Given the description of an element on the screen output the (x, y) to click on. 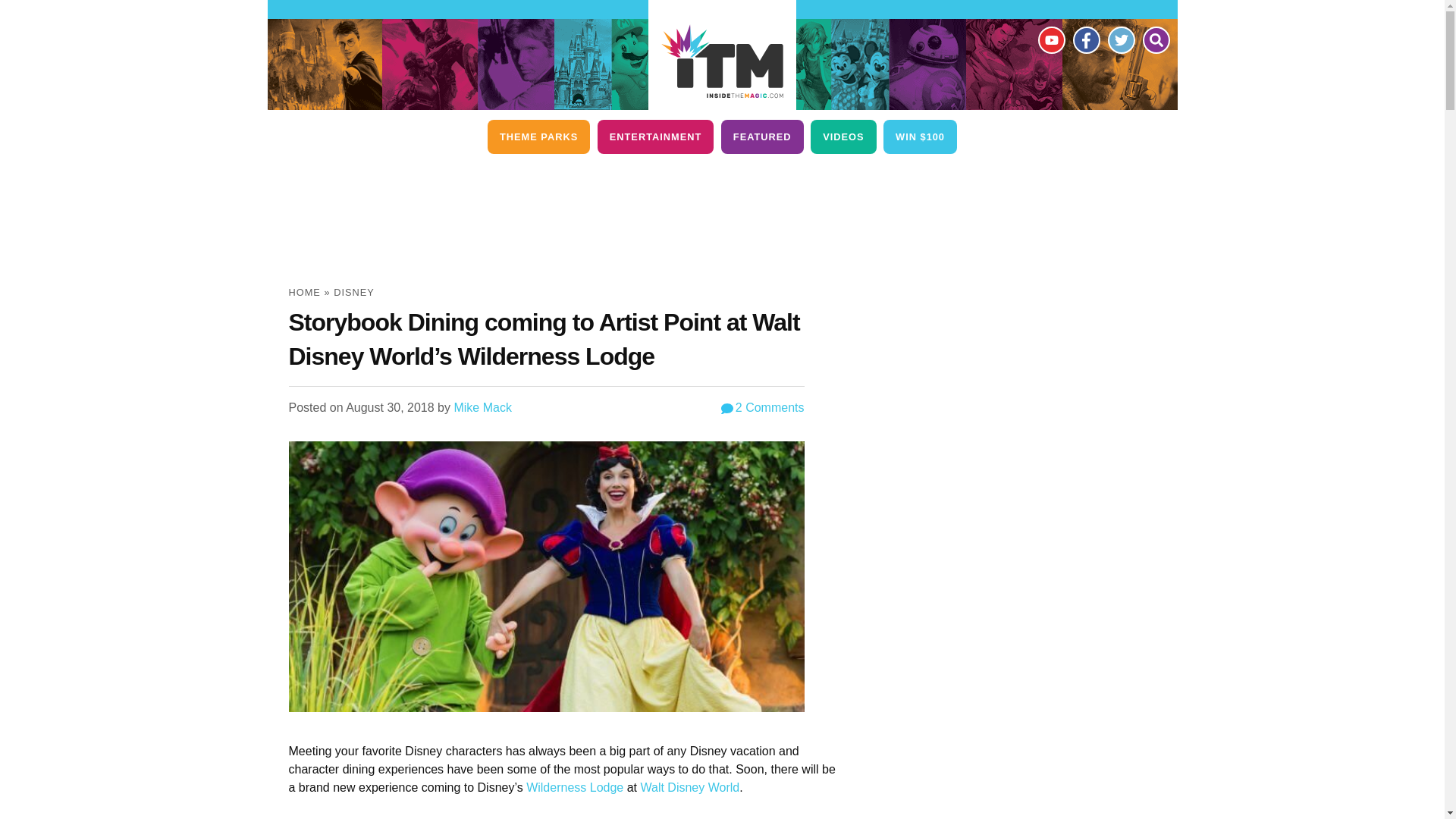
YouTube (1050, 40)
Facebook (1085, 40)
ENTERTAINMENT (655, 136)
Twitter (1120, 40)
Wilderness Lodge (574, 787)
Search (1155, 40)
FEATURED (761, 136)
THEME PARKS (538, 136)
